Given the description of an element on the screen output the (x, y) to click on. 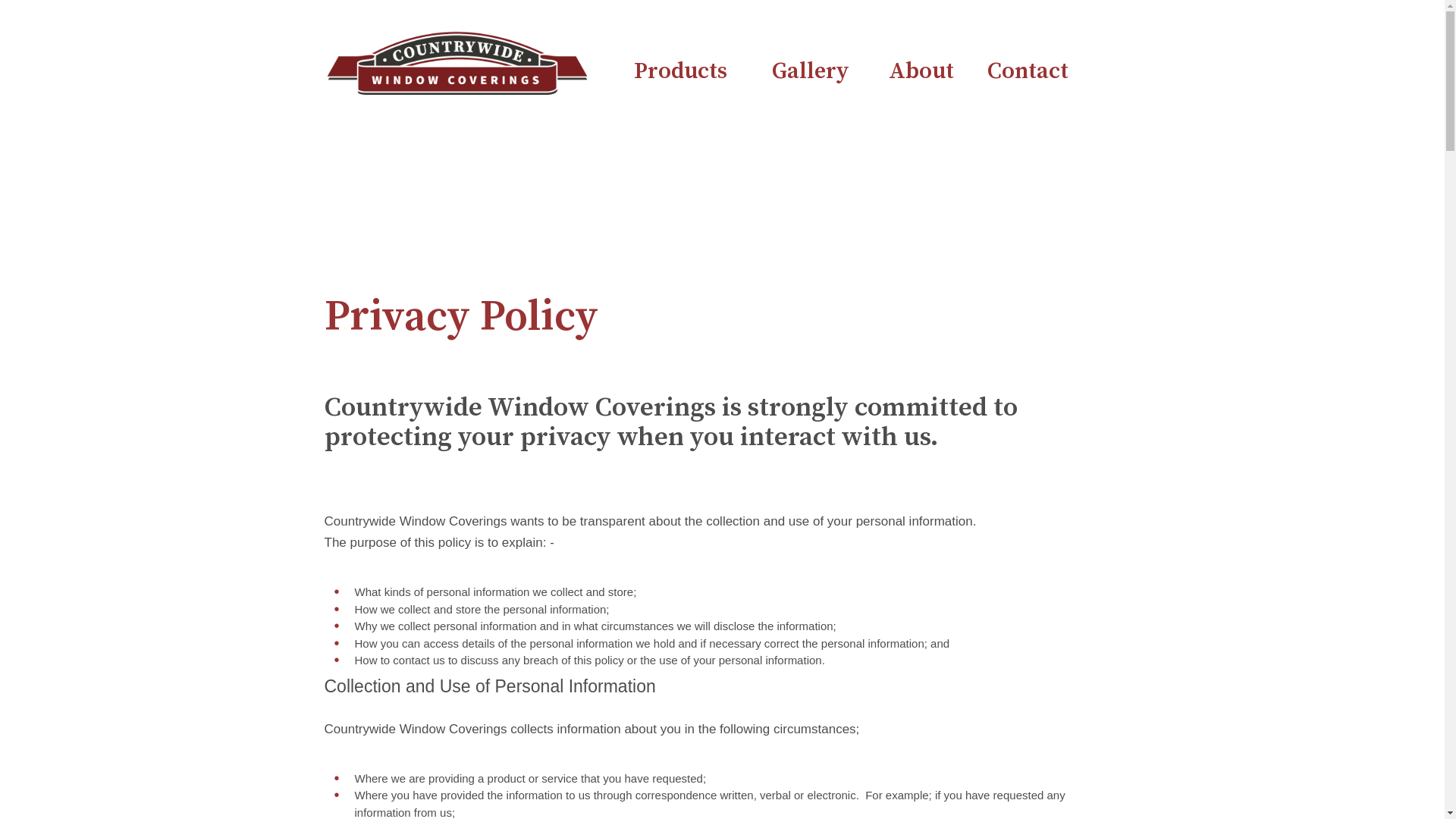
About Element type: text (920, 69)
Products Element type: text (680, 69)
Gallery Element type: text (810, 69)
Contact Element type: text (1027, 69)
